Given the description of an element on the screen output the (x, y) to click on. 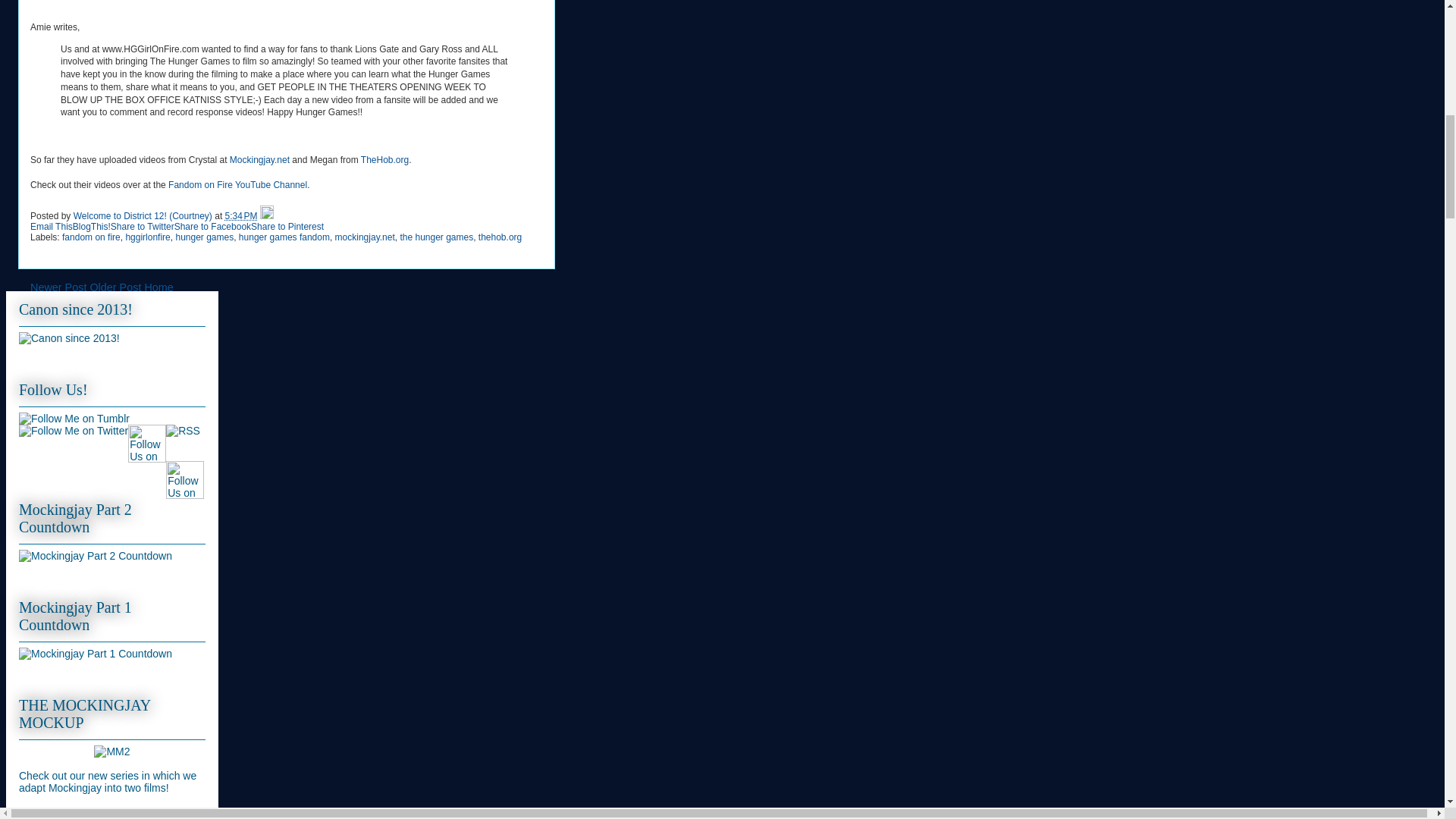
Older Post (114, 287)
hggirlonfire (147, 236)
Home (158, 287)
Newer Post (57, 287)
Share to Facebook (212, 226)
hunger games fandom (284, 236)
mockingjay.net (364, 236)
Email This (51, 226)
TheHob.org (385, 159)
Edit Post (266, 215)
BlogThis! (91, 226)
Share to Facebook (212, 226)
Share to Twitter (142, 226)
thehob.org (500, 236)
Email This (51, 226)
